Given the description of an element on the screen output the (x, y) to click on. 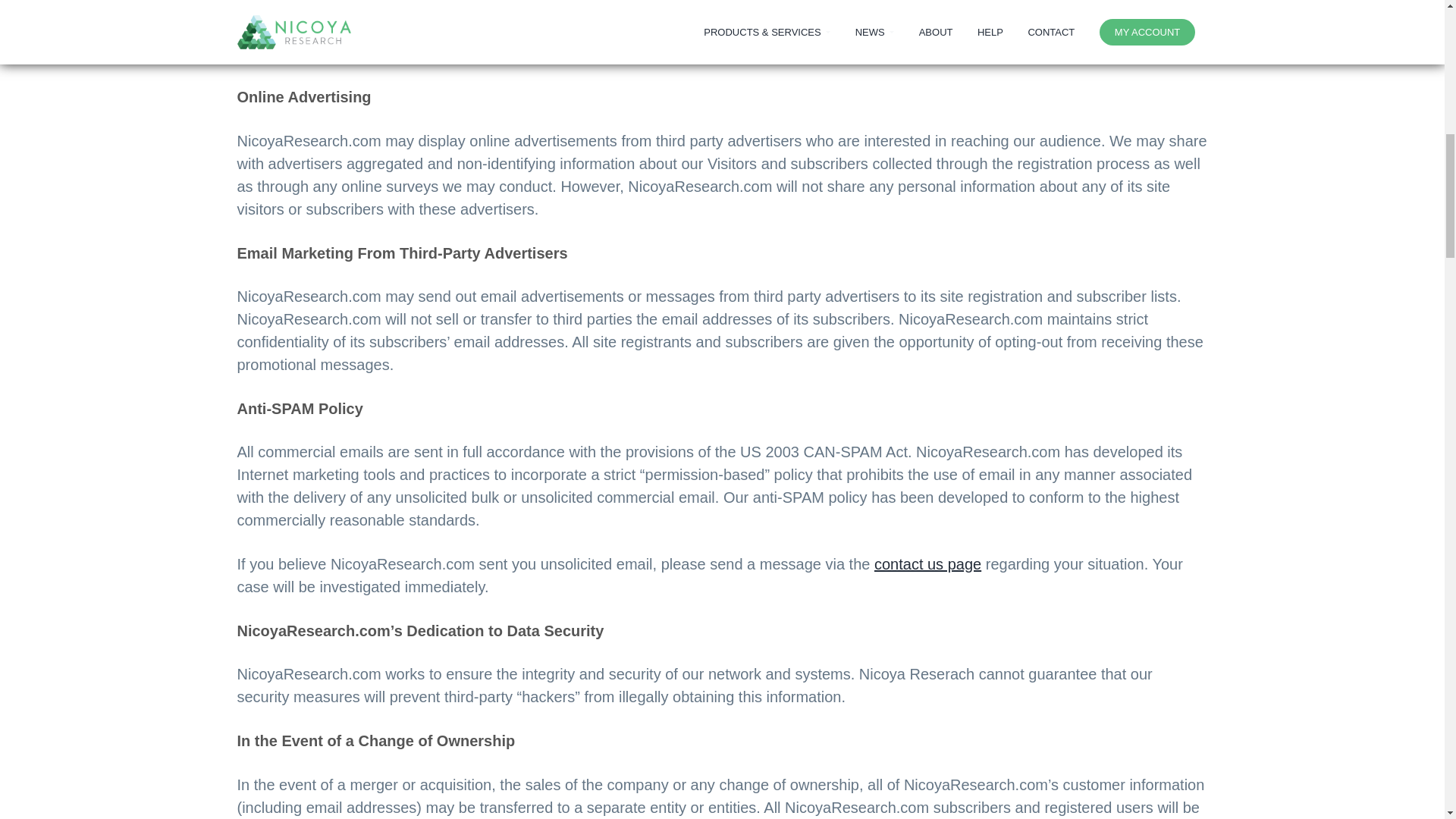
contact us page (928, 564)
